Given the description of an element on the screen output the (x, y) to click on. 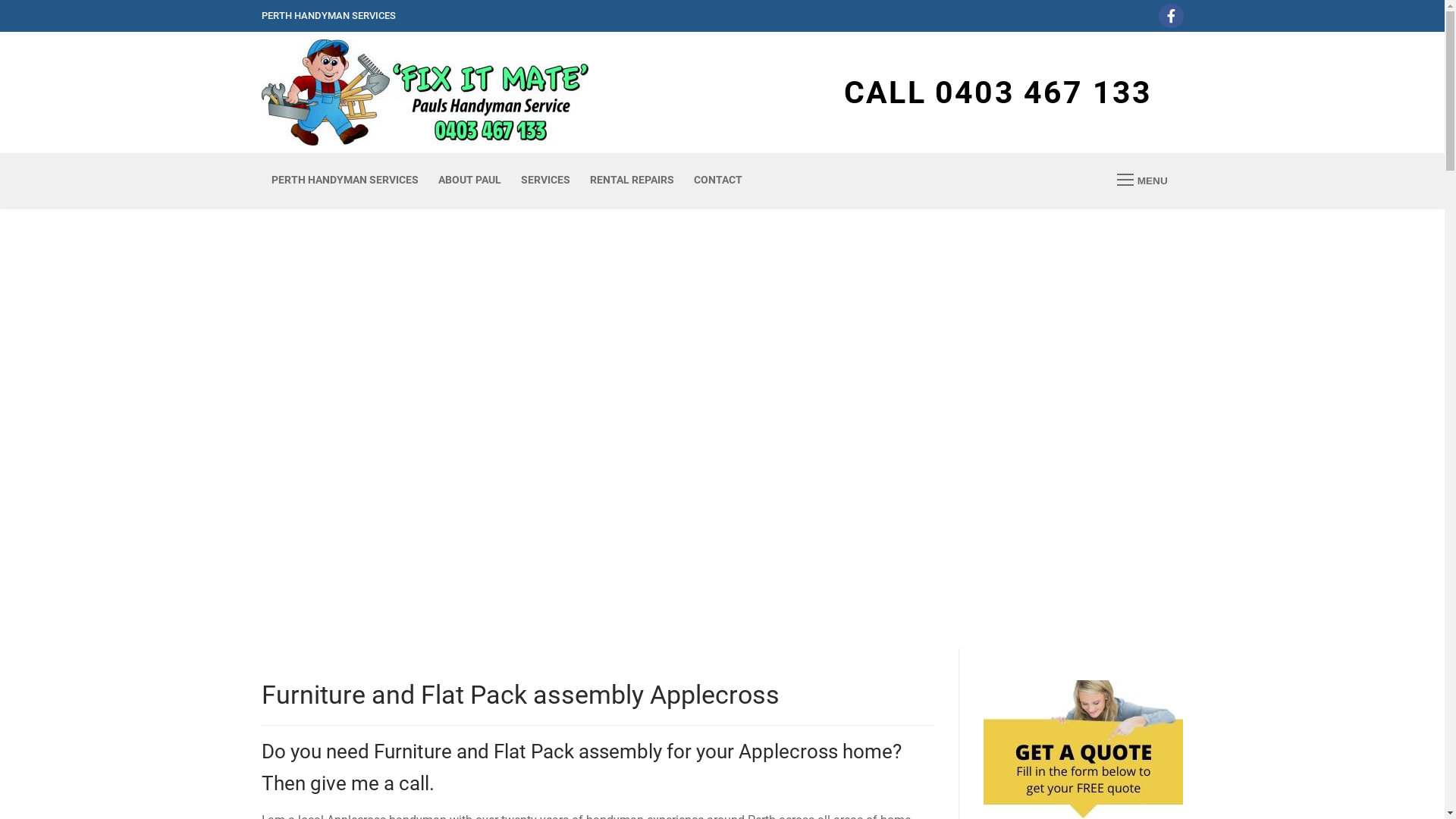
PERTH HANDYMAN SERVICES Element type: text (343, 180)
MENU Element type: text (1142, 180)
RENTAL REPAIRS Element type: text (631, 180)
ABOUT PAUL Element type: text (468, 180)
SERVICES Element type: text (545, 180)
CALL 0403 467 133 Element type: text (997, 92)
Facebook Element type: hover (1170, 15)
CONTACT Element type: text (718, 180)
